Given the description of an element on the screen output the (x, y) to click on. 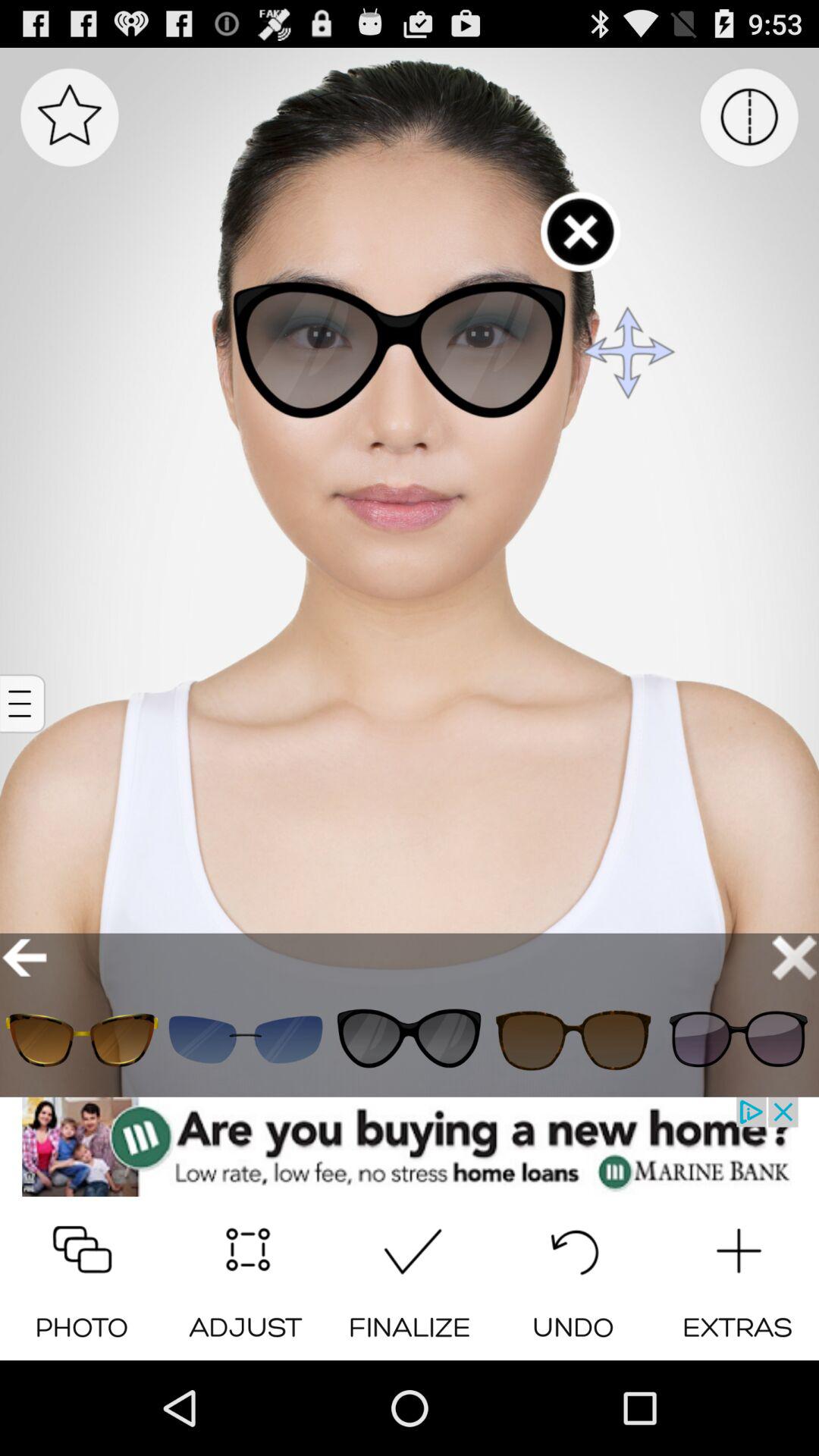
menu page (749, 117)
